Given the description of an element on the screen output the (x, y) to click on. 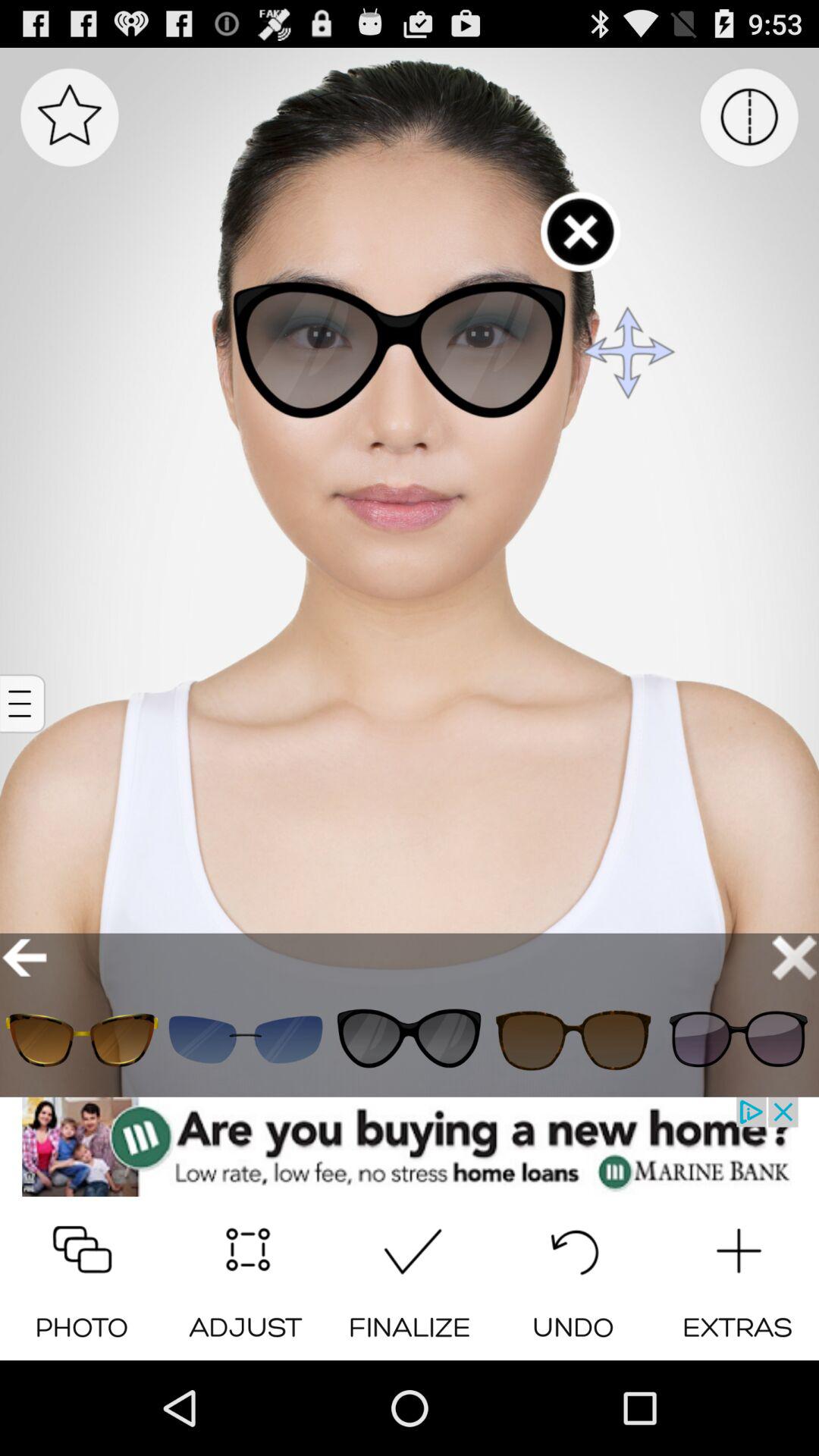
menu page (749, 117)
